Given the description of an element on the screen output the (x, y) to click on. 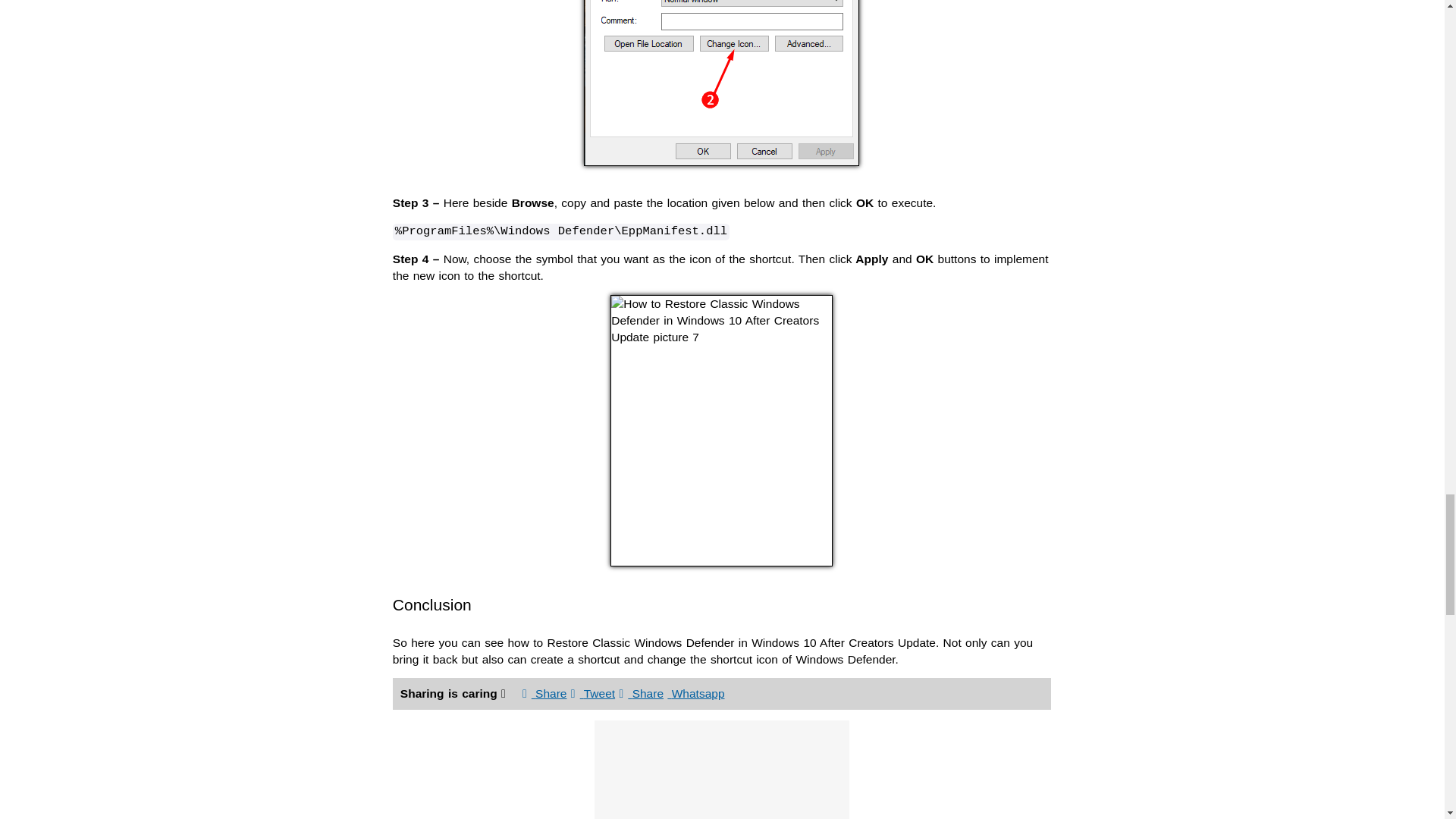
Tweet (592, 693)
Share (640, 693)
Share (544, 693)
Whatsapp (694, 693)
